Given the description of an element on the screen output the (x, y) to click on. 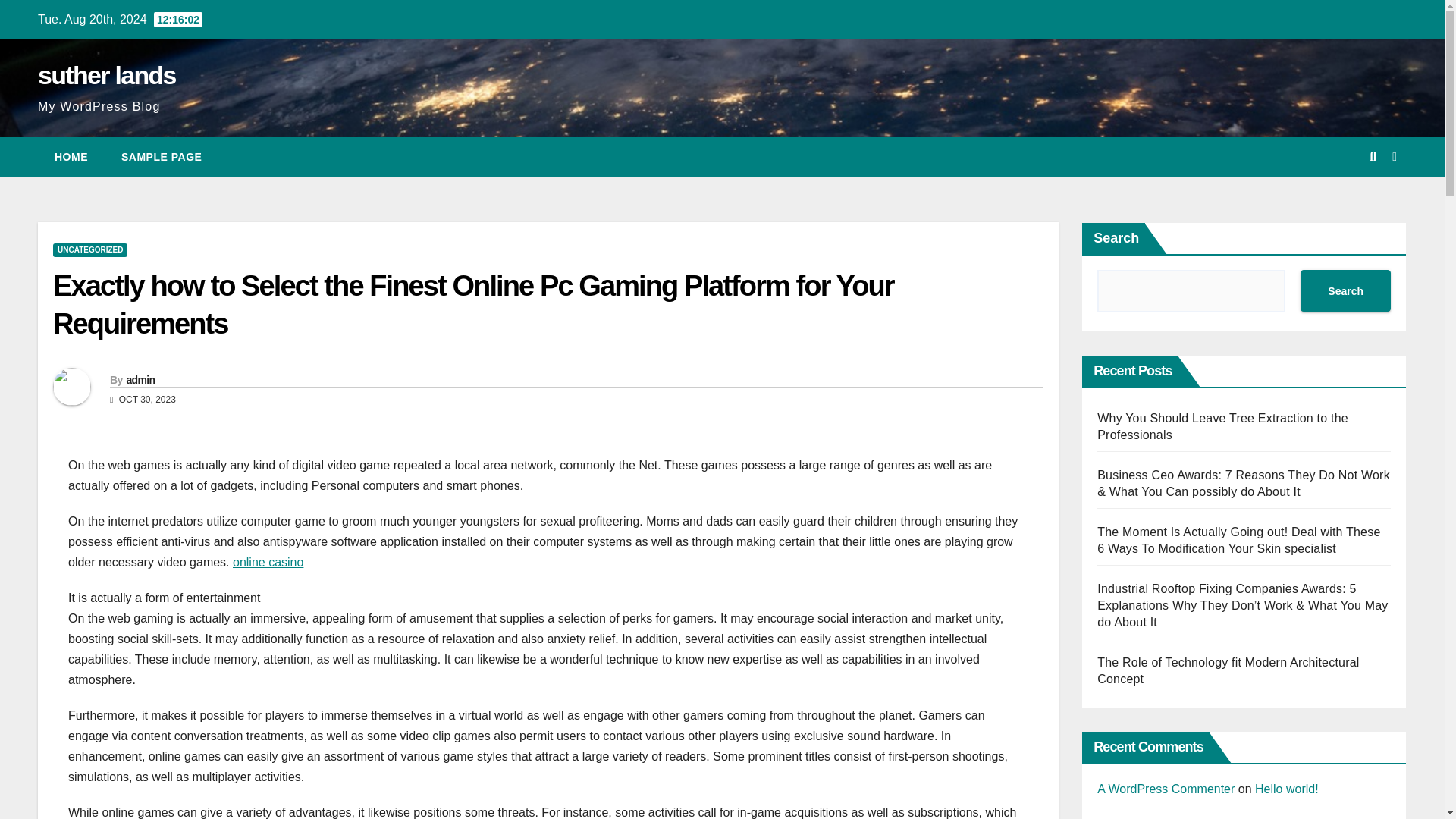
Search (1345, 291)
online casino (267, 562)
suther lands (106, 74)
Home (70, 156)
admin (139, 379)
HOME (70, 156)
UNCATEGORIZED (90, 250)
SAMPLE PAGE (161, 156)
